Given the description of an element on the screen output the (x, y) to click on. 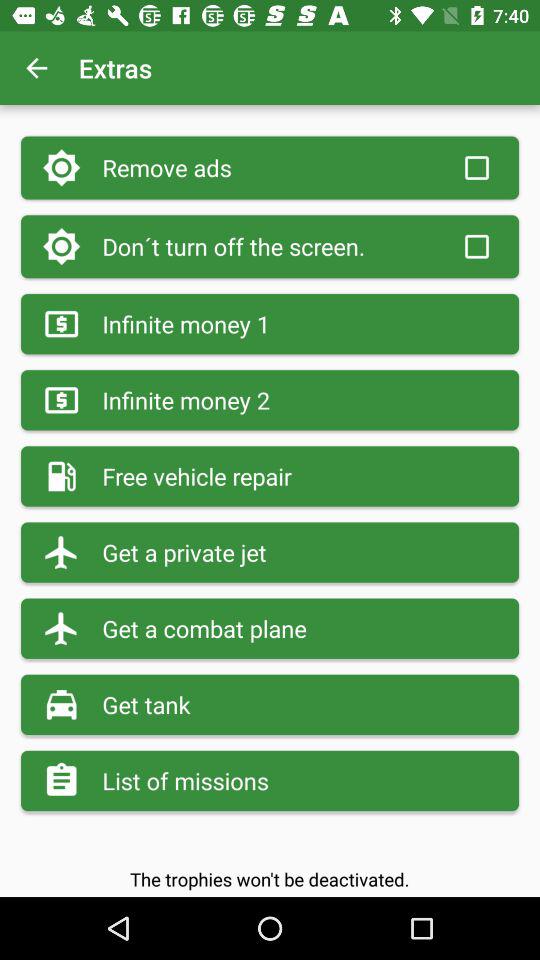
turn off icon to the right of remove ads (476, 168)
